Given the description of an element on the screen output the (x, y) to click on. 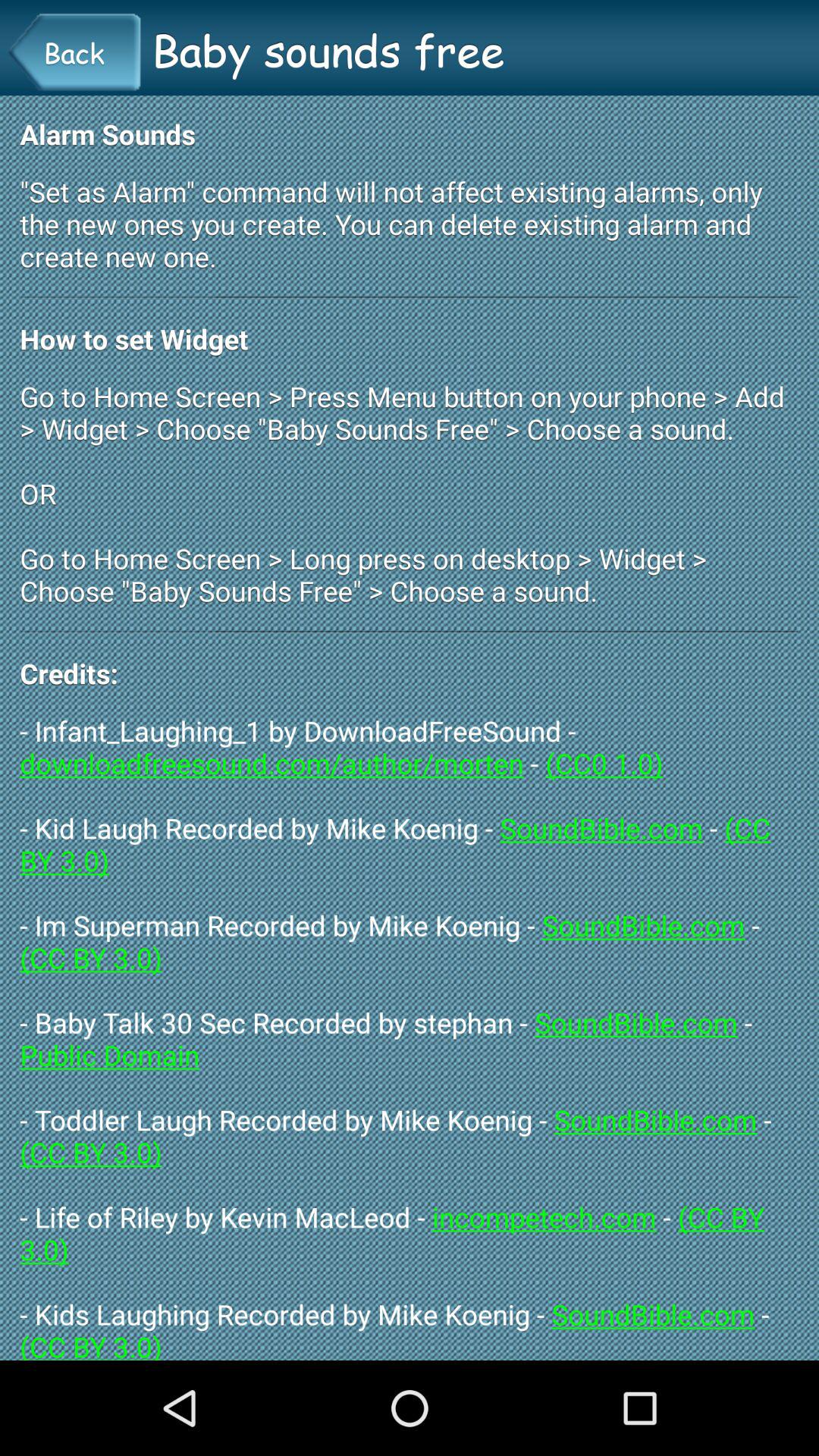
launch the icon at the bottom (409, 1036)
